Given the description of an element on the screen output the (x, y) to click on. 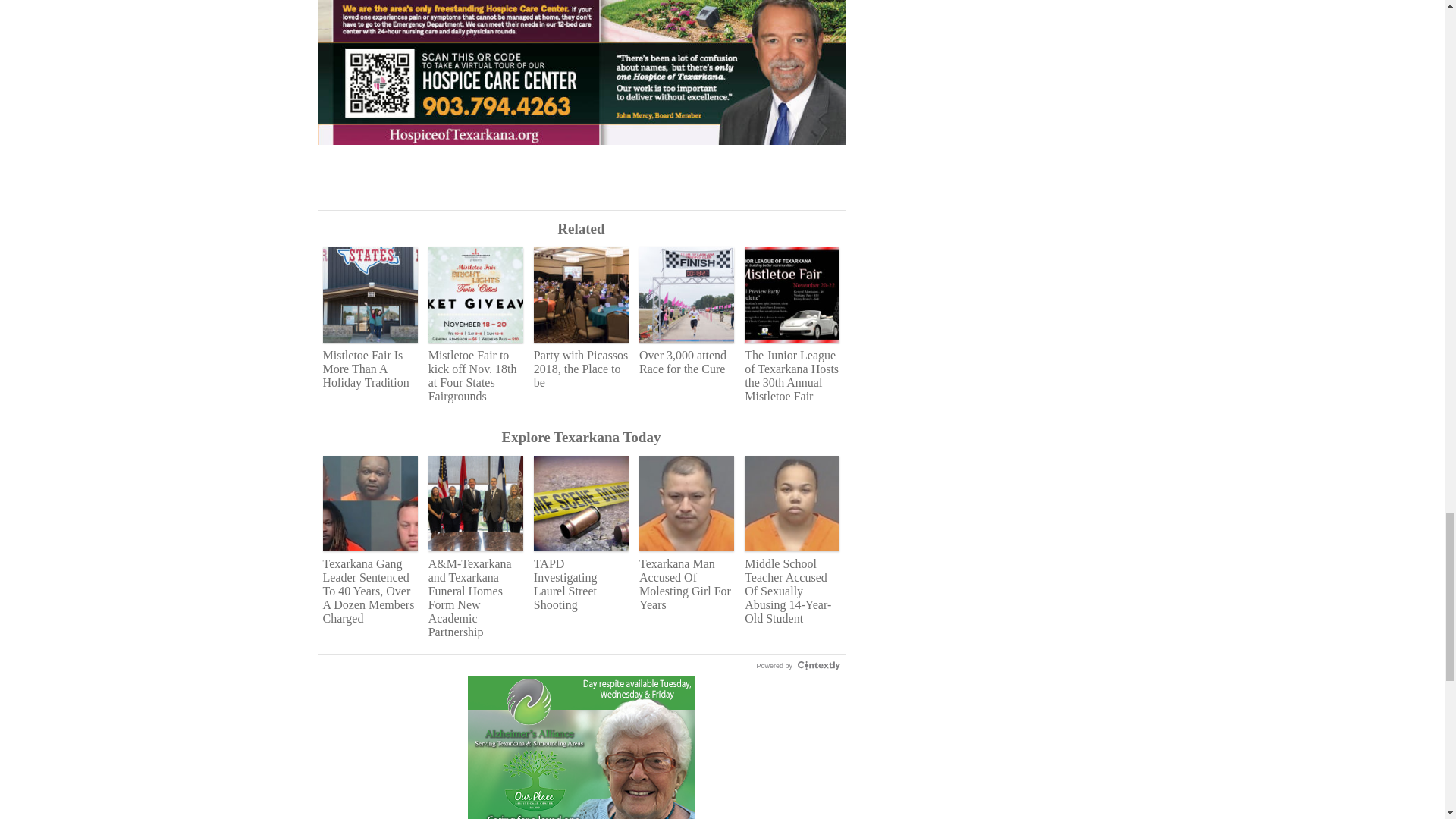
Hospice  750 (580, 80)
